Given the description of an element on the screen output the (x, y) to click on. 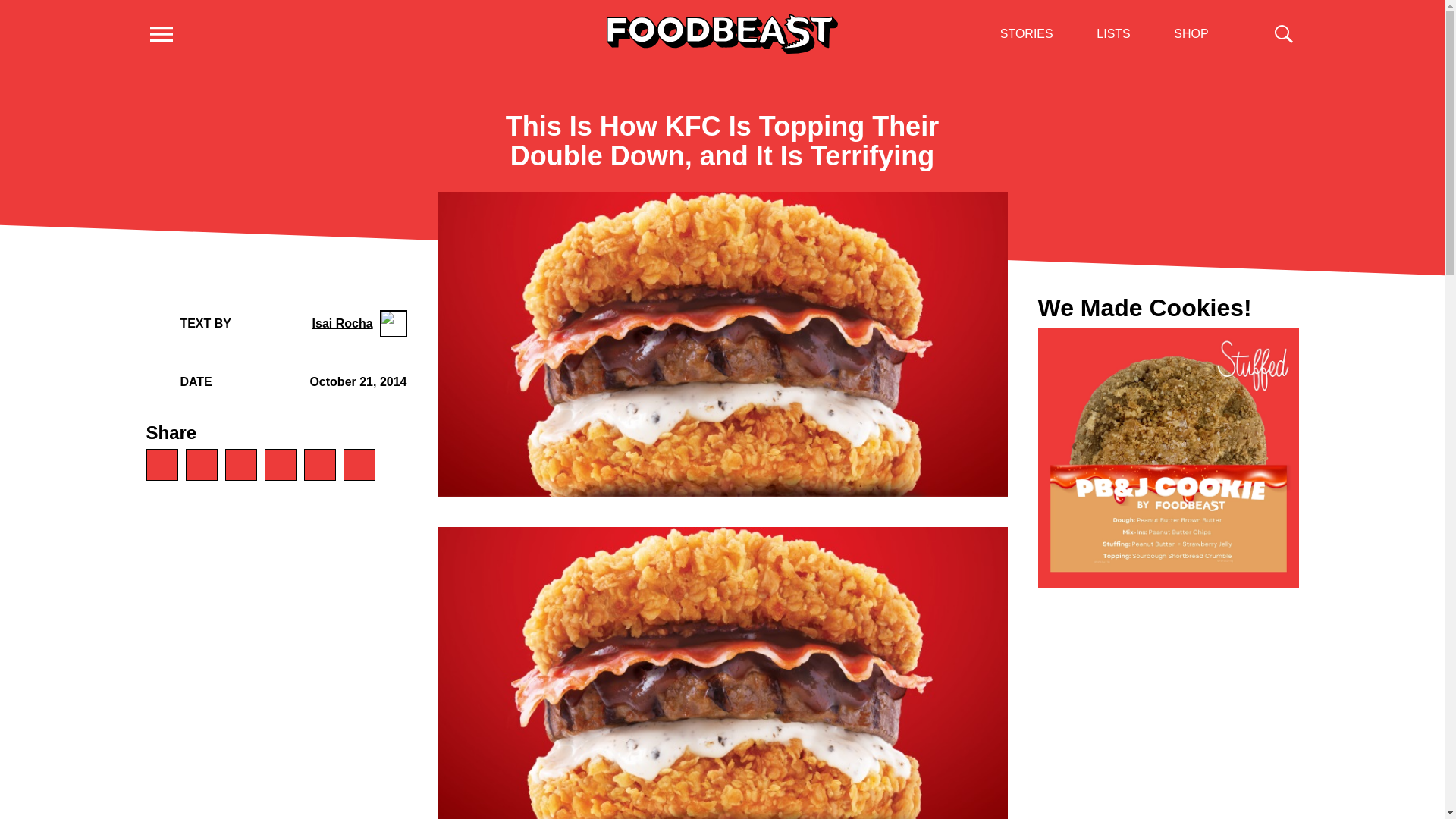
Copy (358, 464)
STORIES (1026, 33)
SHOP (1190, 33)
Email (318, 464)
Twitter (279, 464)
Facebook (200, 464)
Facebook Messenger (240, 464)
LISTS (1112, 33)
WhatsApp (161, 464)
